Given the description of an element on the screen output the (x, y) to click on. 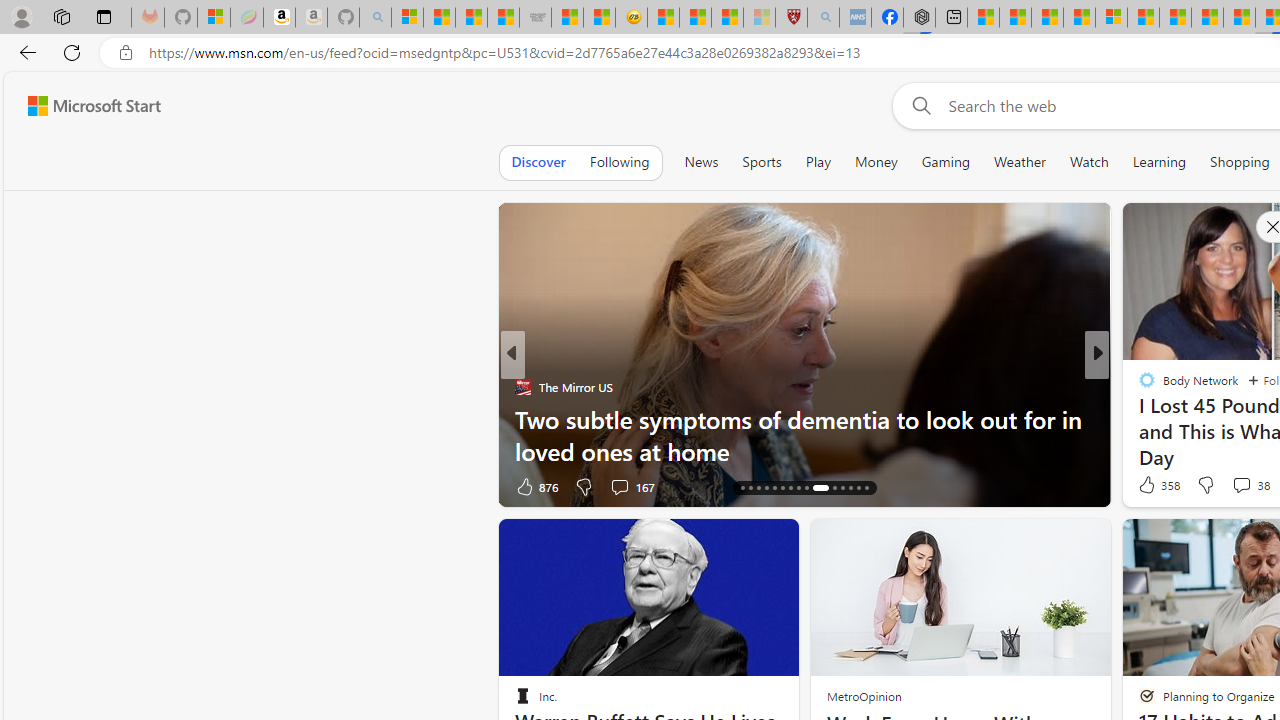
Shopping (1240, 161)
Workspaces (61, 16)
Stocks - MSN (502, 17)
Following (619, 161)
View site information (125, 53)
Play (817, 161)
Microsoft Start (94, 105)
AutomationID: tab-24 (806, 487)
View comments 34 Comment (628, 486)
View comments 5 Comment (1234, 486)
View comments 626 Comment (11, 485)
Weather (1019, 162)
Watch (1089, 162)
Learning (1159, 162)
